Given the description of an element on the screen output the (x, y) to click on. 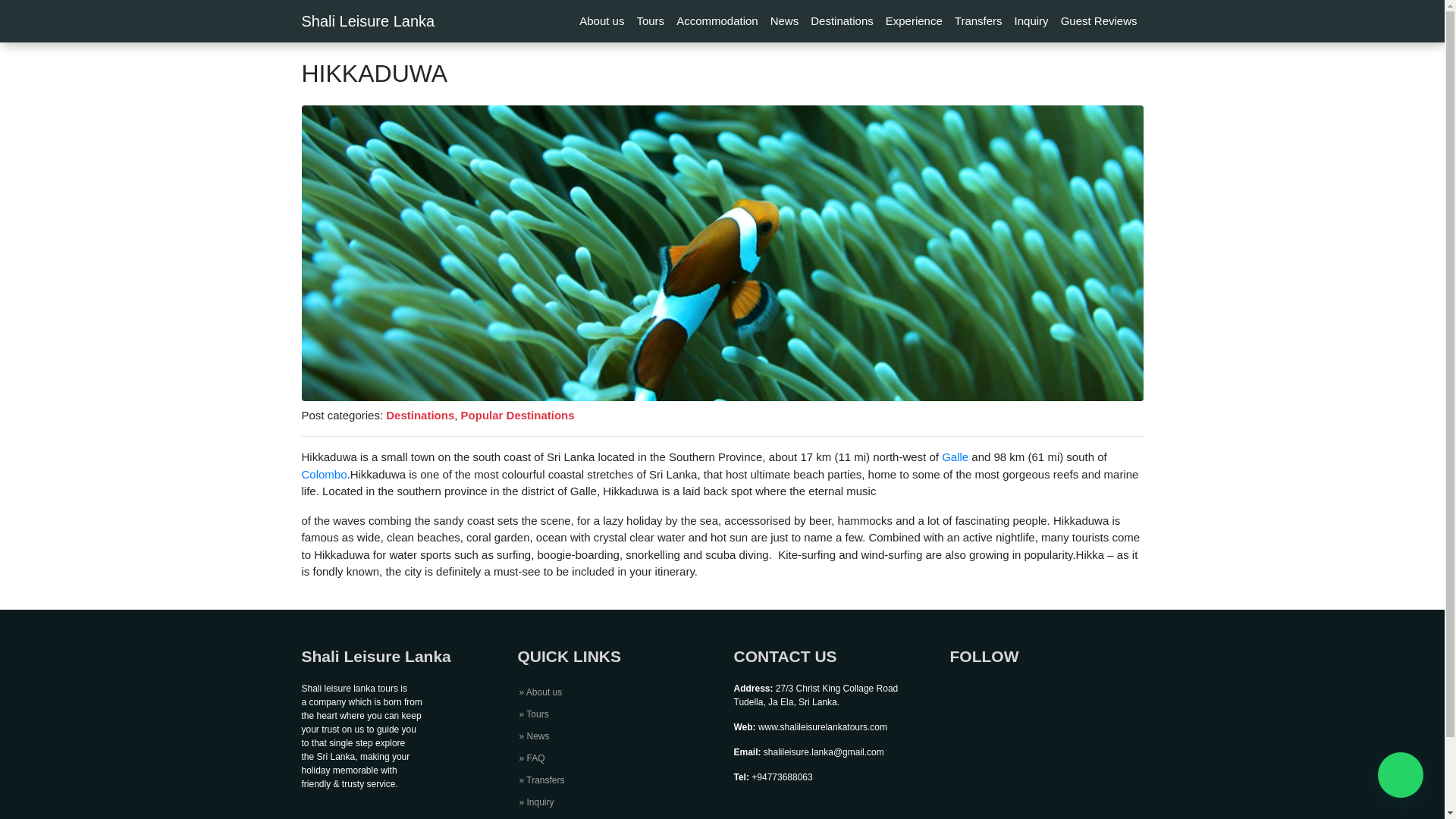
Inquiry (1031, 21)
About us (540, 692)
About us (601, 21)
Tours (533, 714)
News (533, 736)
Popular Destinations (518, 414)
Experience (914, 21)
Shali Leisure Lanka (368, 20)
Guest Reviews (1098, 21)
Destinations (842, 21)
